Given the description of an element on the screen output the (x, y) to click on. 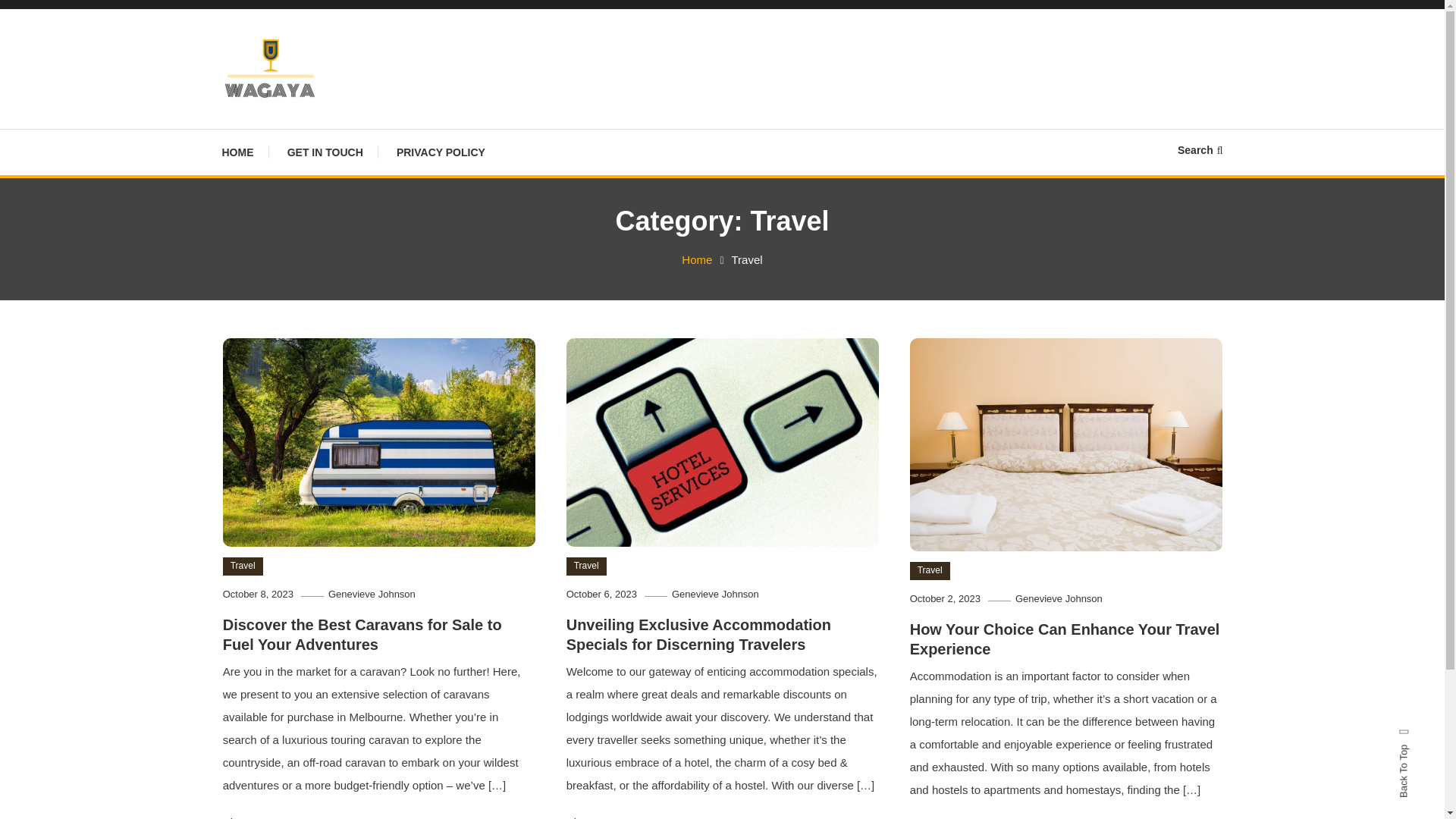
Wagaya (272, 119)
Genevieve Johnson (714, 593)
Discover the Best Caravans for Sale to Fuel Your Adventures (362, 634)
Discover (591, 816)
October 6, 2023 (601, 593)
Search (1200, 150)
PRIVACY POLICY (440, 152)
Discover (248, 816)
Travel (930, 570)
